Given the description of an element on the screen output the (x, y) to click on. 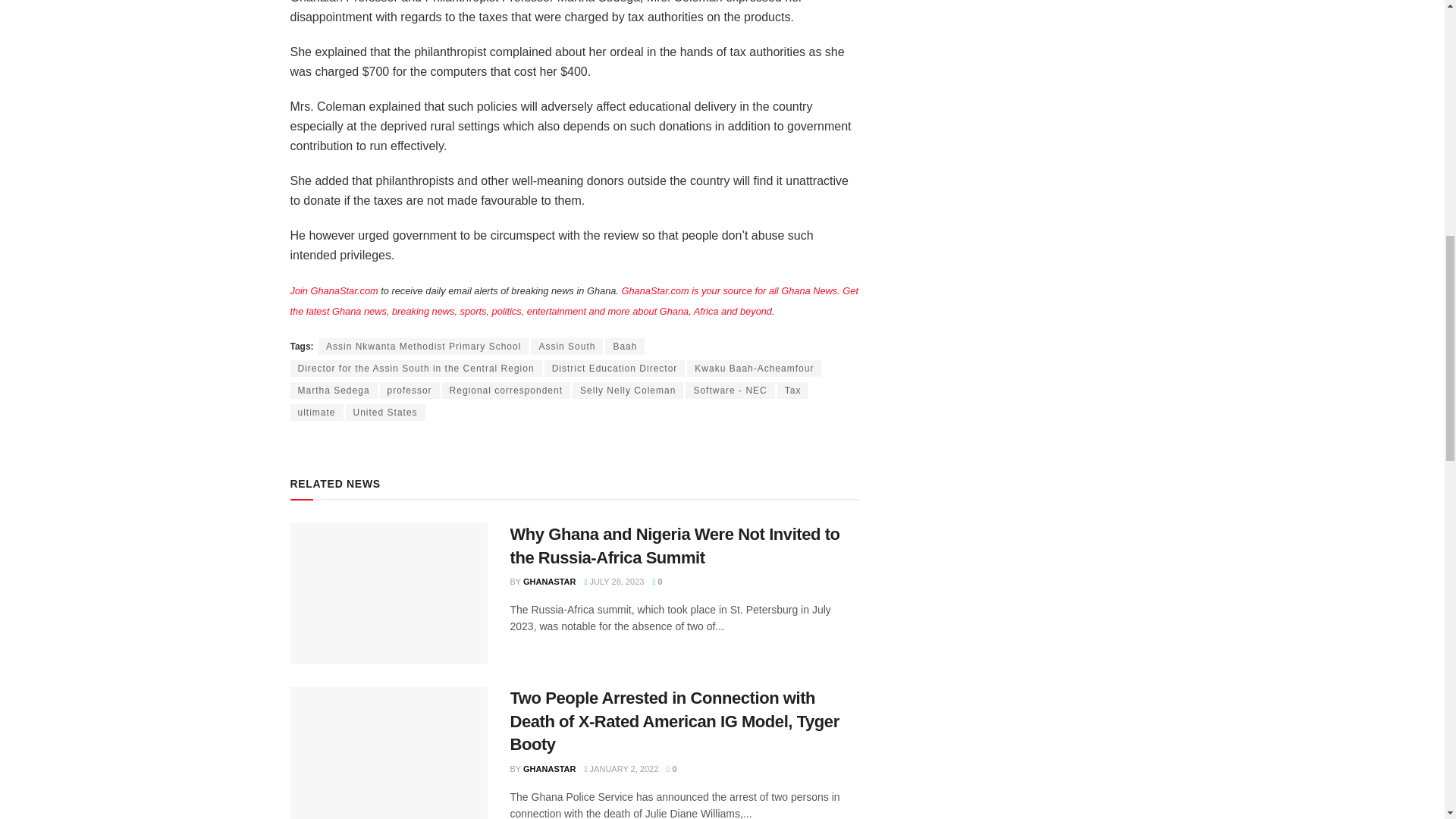
Assin South (566, 346)
Join GhanaStar.com (333, 290)
Advertisement (1023, 3)
Assin Nkwanta Methodist Primary School (423, 346)
